Given the description of an element on the screen output the (x, y) to click on. 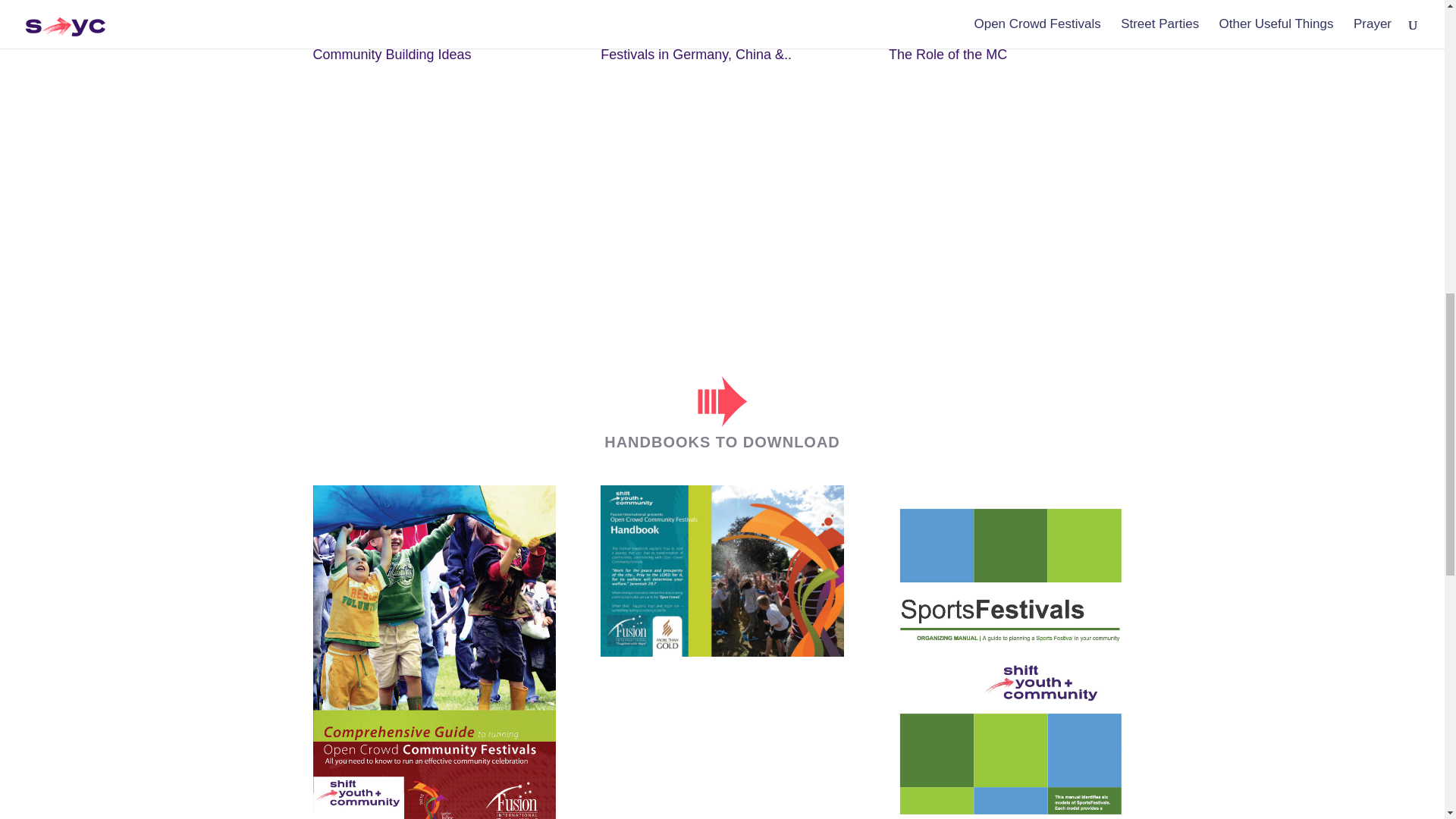
Open Crowd Festivals 08 (721, 182)
The Role of the MC 2014 (1009, 159)
festivals to messy church (1009, 3)
Community Transformation 2014 (433, 159)
The Process of Festivals 2013 (721, 3)
